Given the description of an element on the screen output the (x, y) to click on. 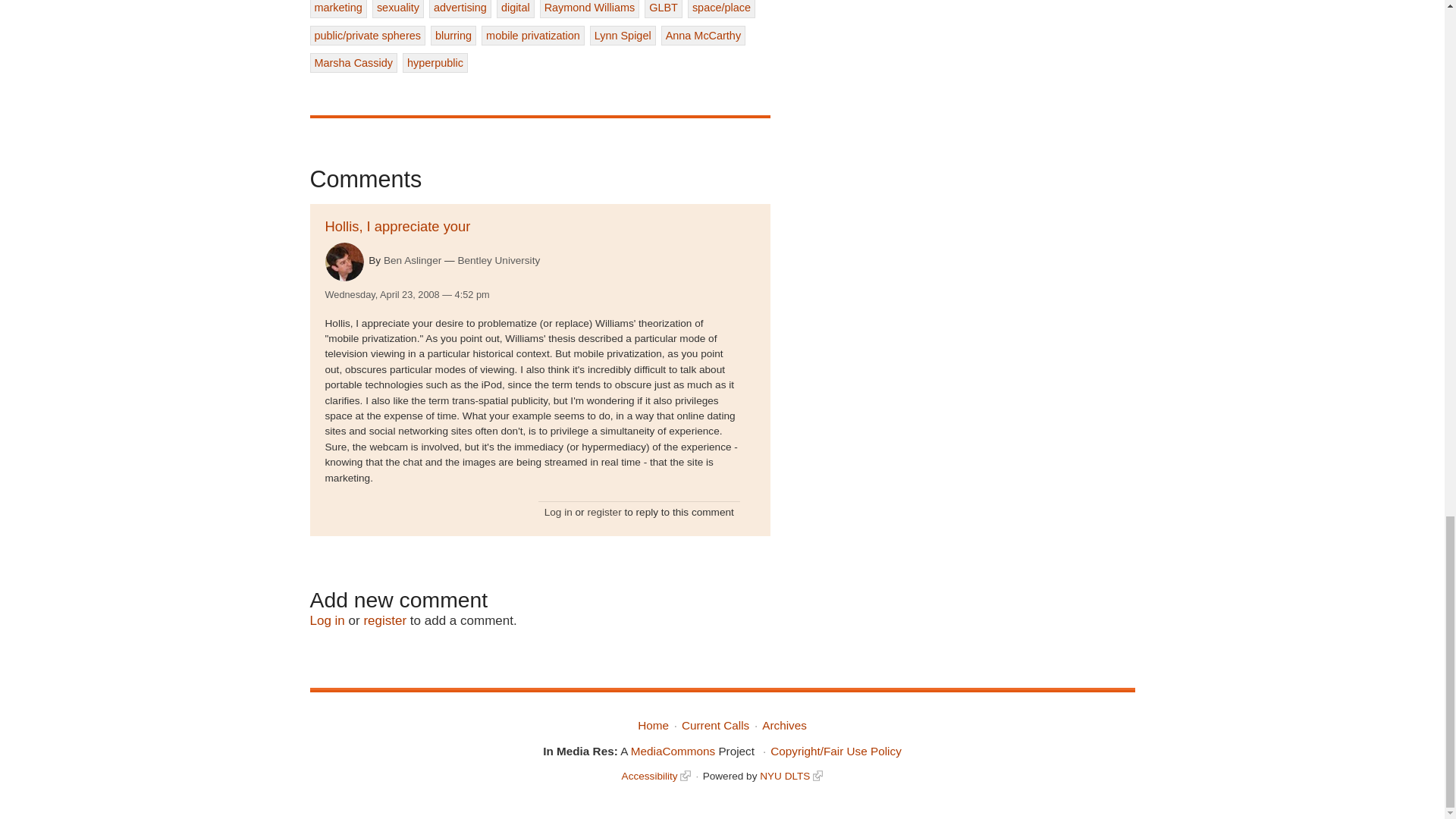
User profile: Ben Aslinger (412, 260)
Marsha Cassidy (352, 62)
Lynn Spigel (622, 35)
Ben Aslinger (412, 260)
blurring (453, 35)
Bentley University (498, 260)
Hollis, I appreciate your (397, 226)
advertising (460, 8)
GLBT (663, 8)
marketing (337, 8)
View user profile. (343, 261)
Anna McCarthy (703, 35)
digital (515, 8)
hyperpublic (435, 62)
mobile privatization (533, 35)
